Given the description of an element on the screen output the (x, y) to click on. 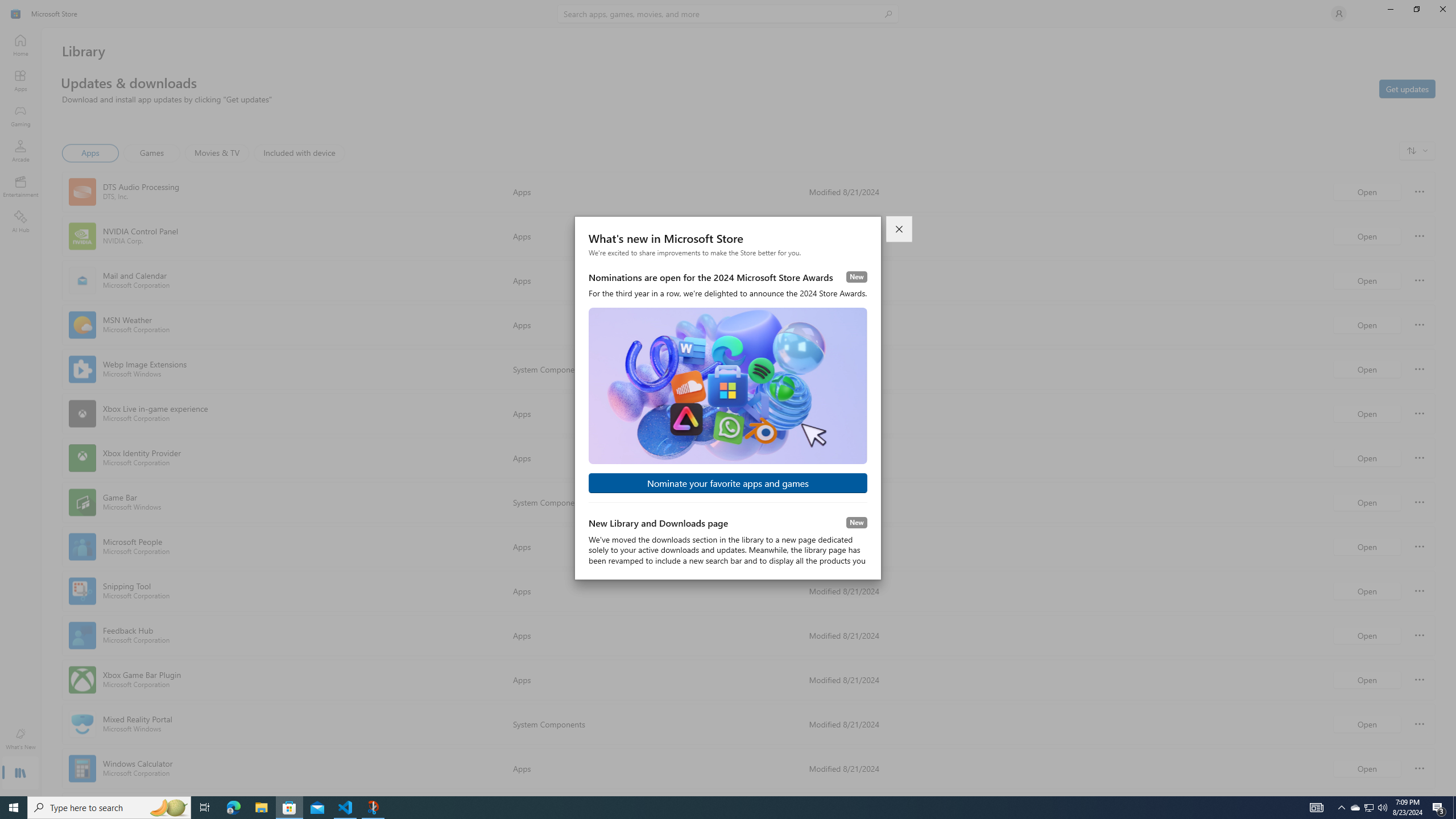
Home (20, 45)
Search (727, 13)
AutomationID: NavigationControl (728, 398)
Minimize Microsoft Store (1390, 9)
Games (151, 153)
Sort and filter (1417, 149)
Entertainment (20, 185)
AI Hub (20, 221)
